Given the description of an element on the screen output the (x, y) to click on. 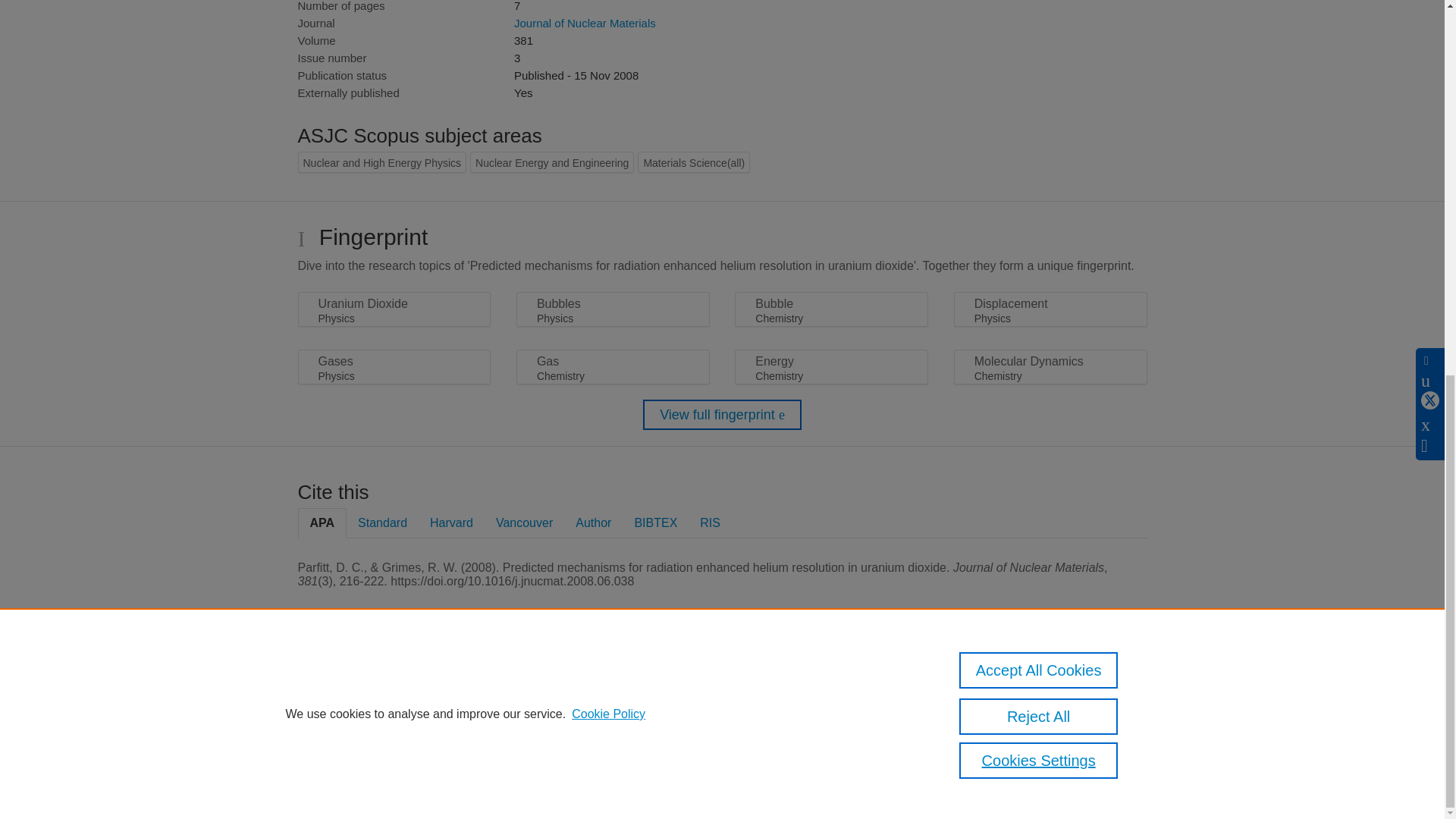
View full fingerprint (722, 414)
Pure (362, 686)
Journal of Nuclear Materials (584, 22)
